Given the description of an element on the screen output the (x, y) to click on. 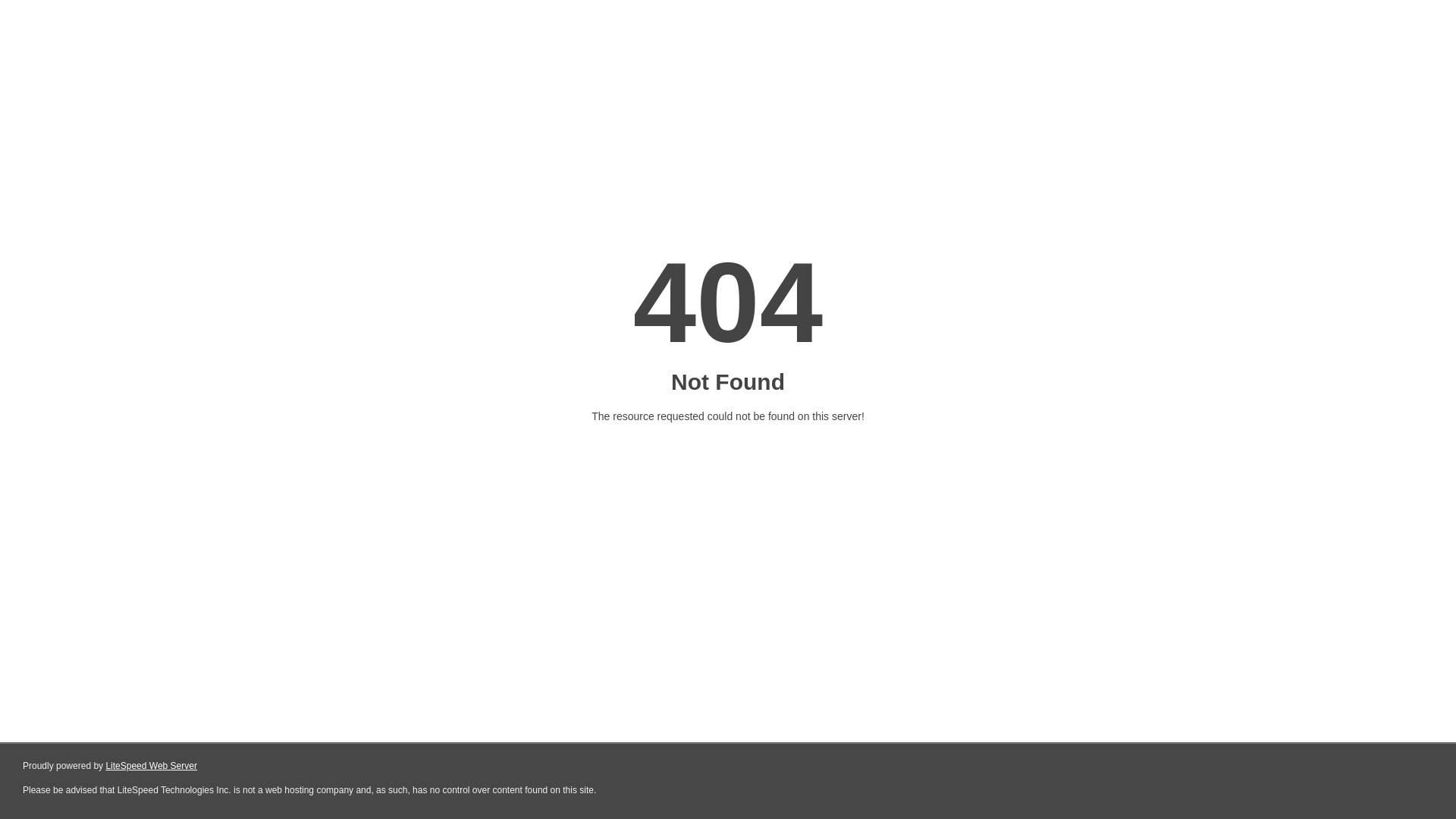
LiteSpeed Web Server Element type: text (151, 765)
